Given the description of an element on the screen output the (x, y) to click on. 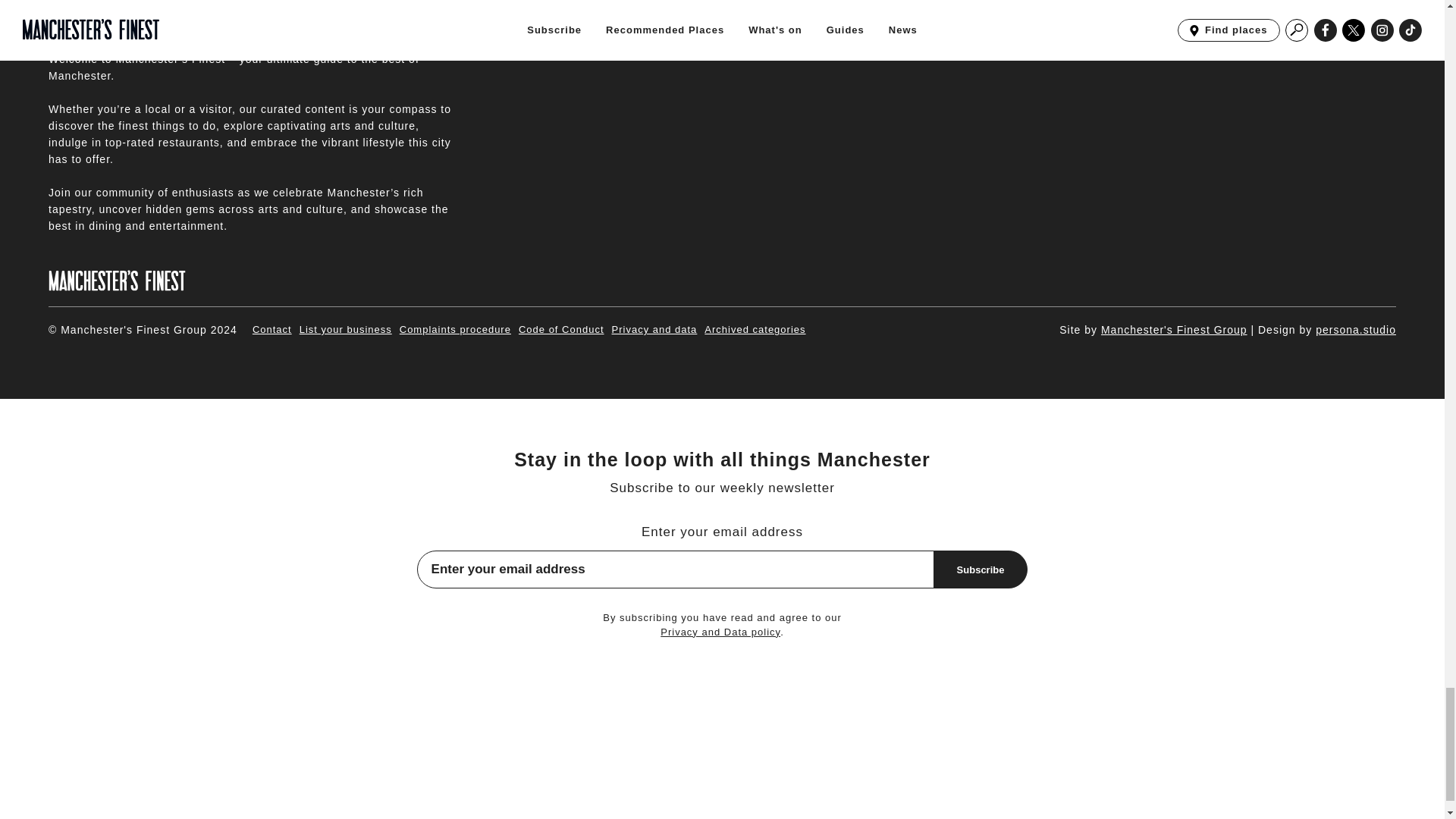
Go to Manchester's Finest Instagram profile (1349, 20)
Go to Manchester's Finest TikTok profile (1383, 20)
Go to Manchester's Finest Facebook page (1280, 20)
Go to Manchester's Finest X profile (1315, 20)
